Given the description of an element on the screen output the (x, y) to click on. 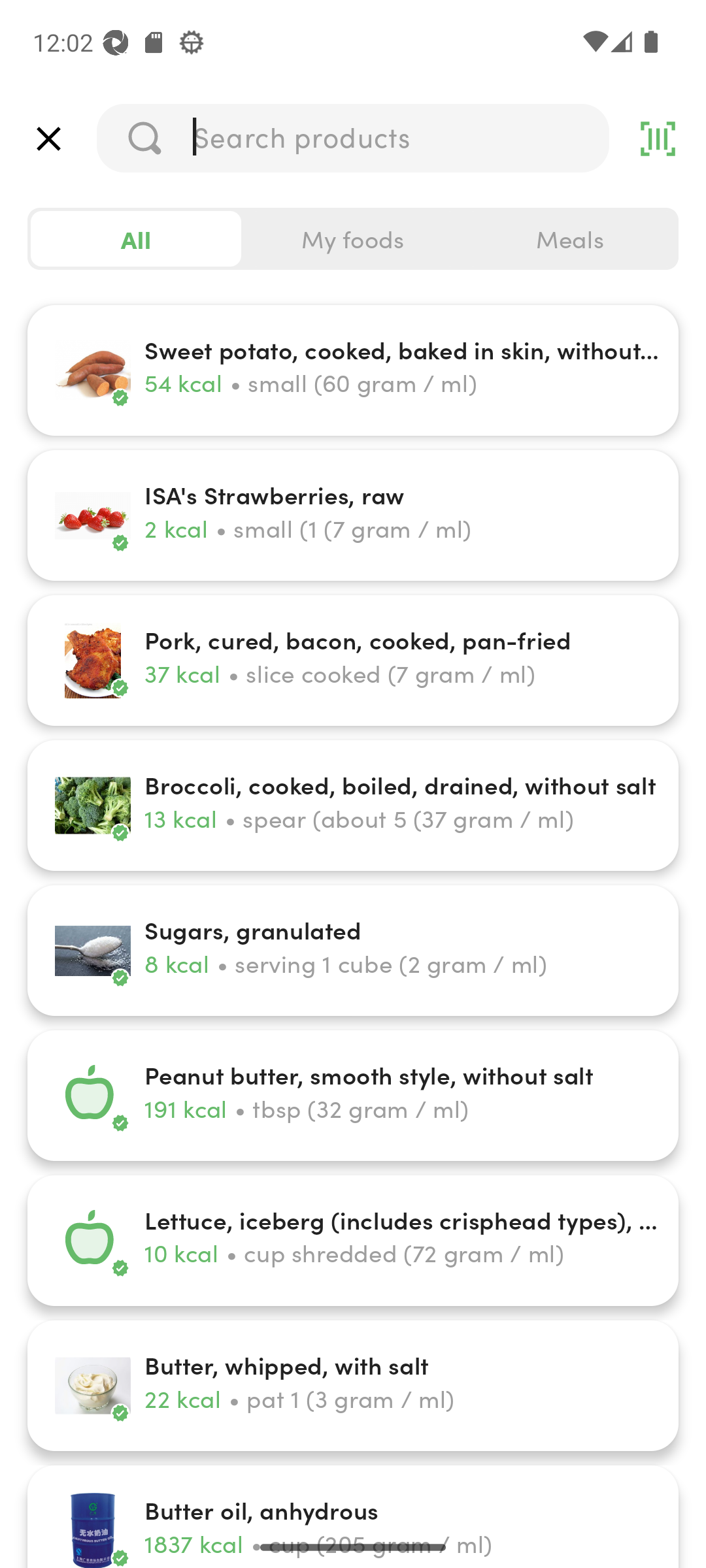
top_left_action (48, 138)
top_right_action (658, 138)
My foods (352, 238)
Meals (569, 238)
